Given the description of an element on the screen output the (x, y) to click on. 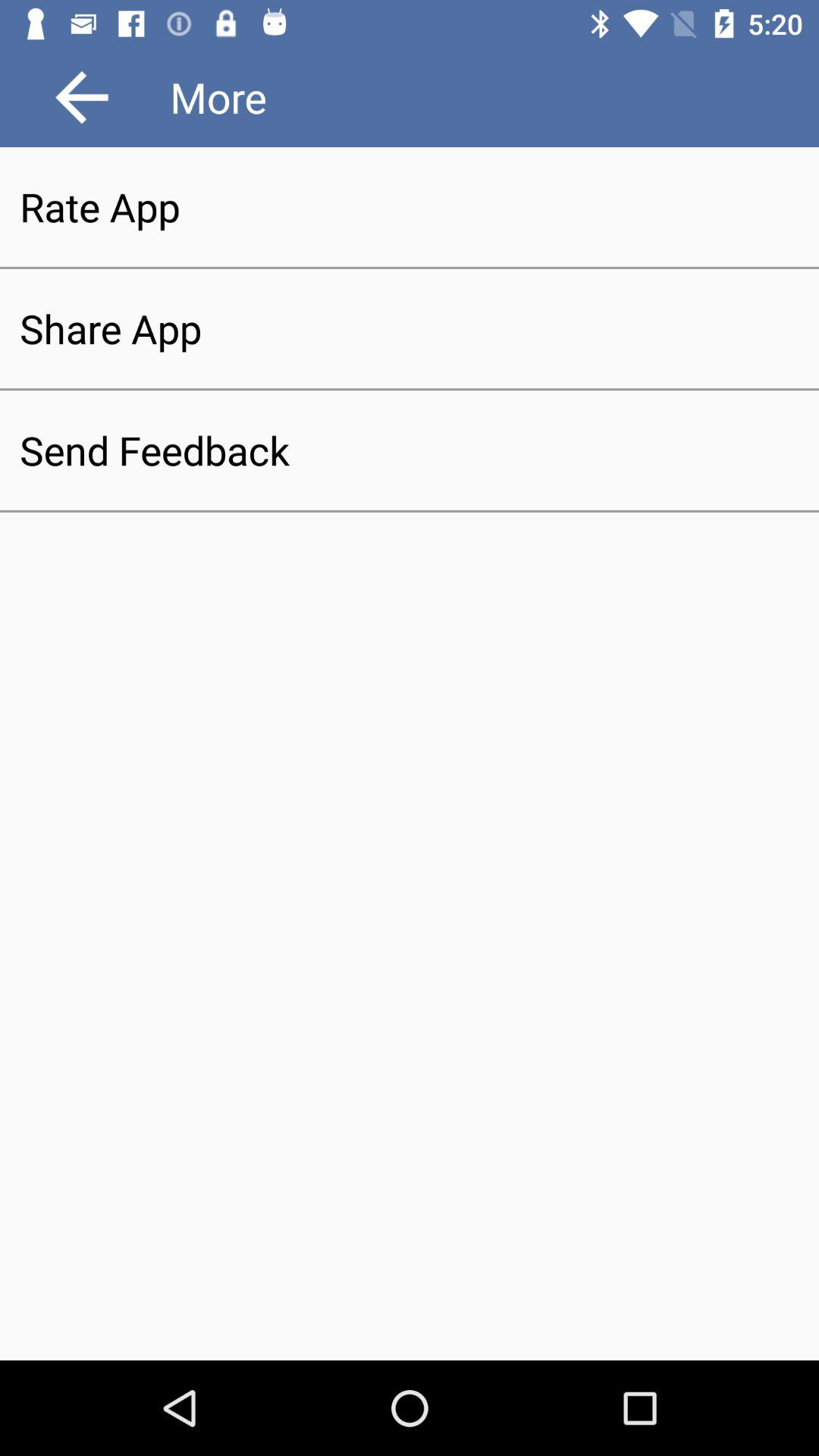
turn off icon to the left of more app (81, 97)
